Given the description of an element on the screen output the (x, y) to click on. 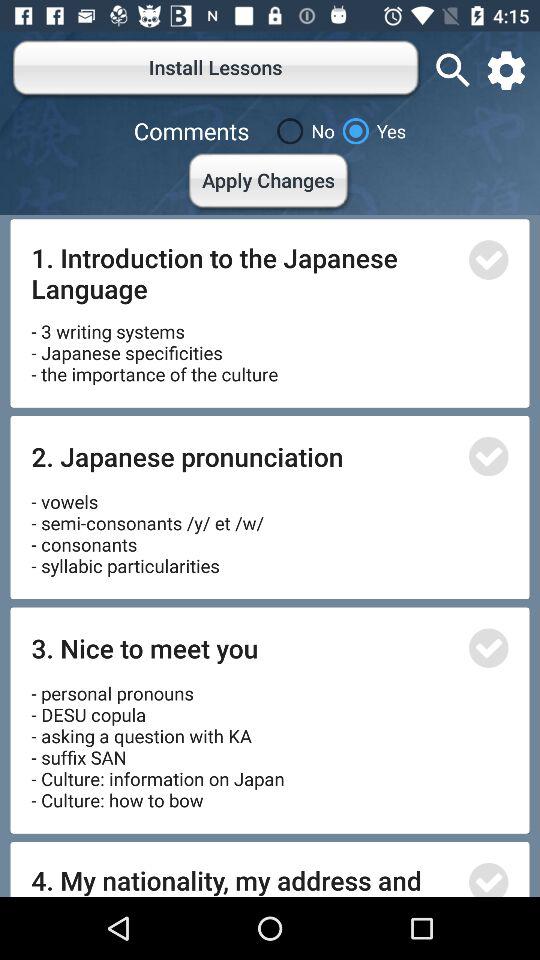
open the no (301, 131)
